Given the description of an element on the screen output the (x, y) to click on. 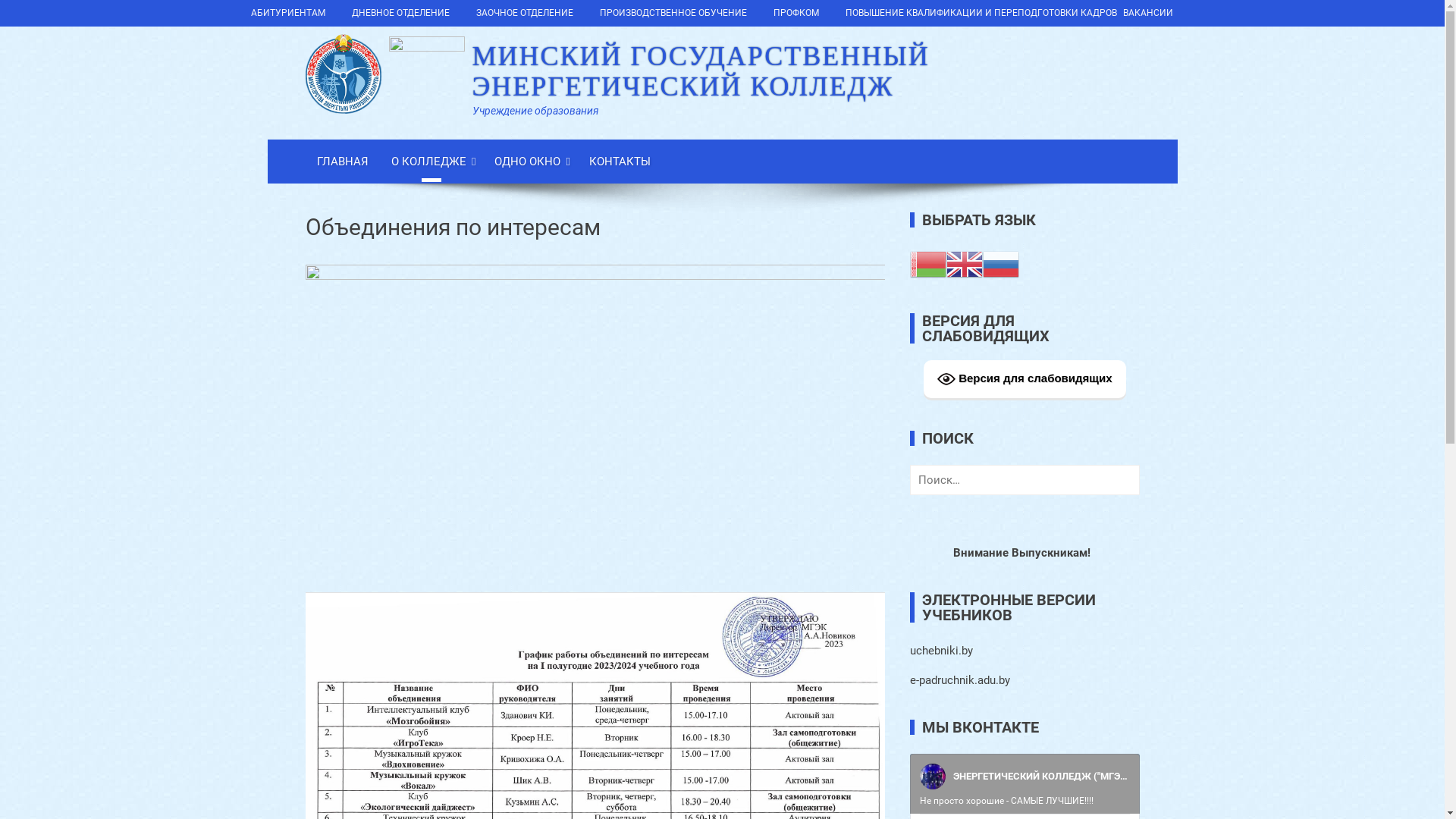
uchebniki.by Element type: text (941, 650)
Belarusian Element type: hover (928, 263)
Russian Element type: hover (1000, 263)
English Element type: hover (964, 263)
e-padruchnik.adu.by Element type: text (960, 680)
